Given the description of an element on the screen output the (x, y) to click on. 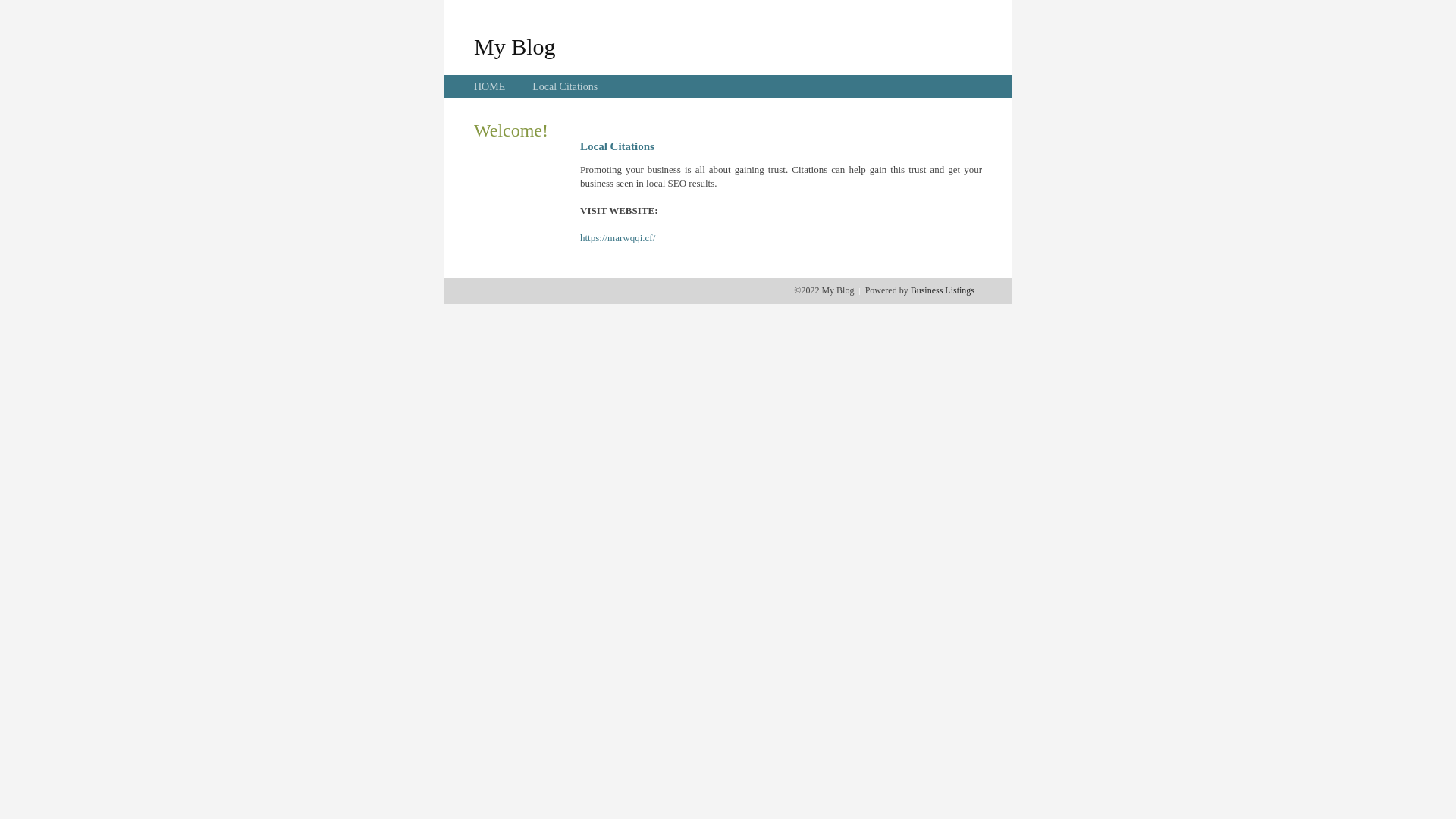
Local Citations Element type: text (564, 86)
HOME Element type: text (489, 86)
My Blog Element type: text (514, 46)
https://marwqqi.cf/ Element type: text (617, 237)
Business Listings Element type: text (942, 290)
